Given the description of an element on the screen output the (x, y) to click on. 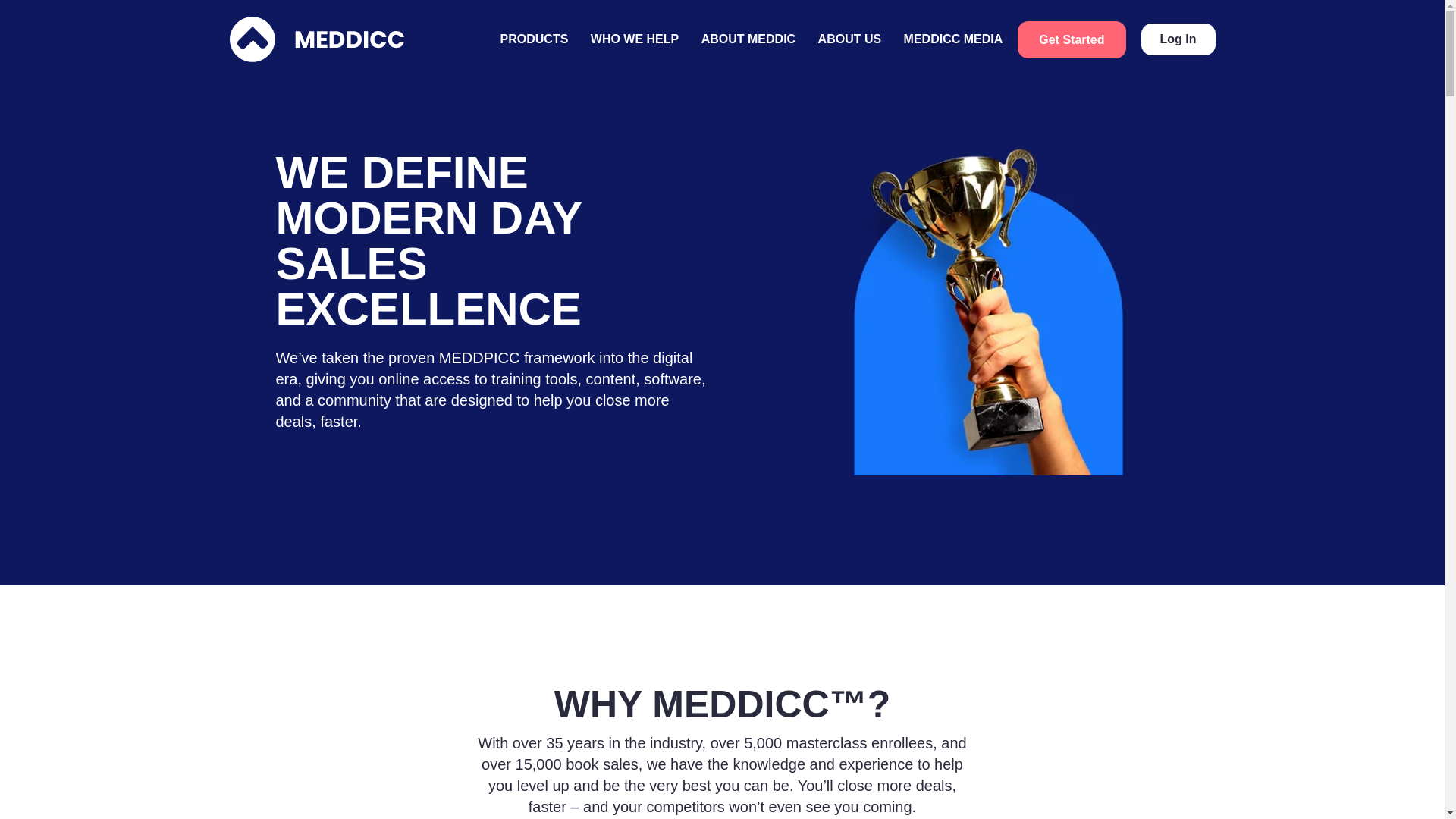
WHO WE HELP (634, 38)
PRODUCTS (534, 38)
Get Started (1071, 39)
